Given the description of an element on the screen output the (x, y) to click on. 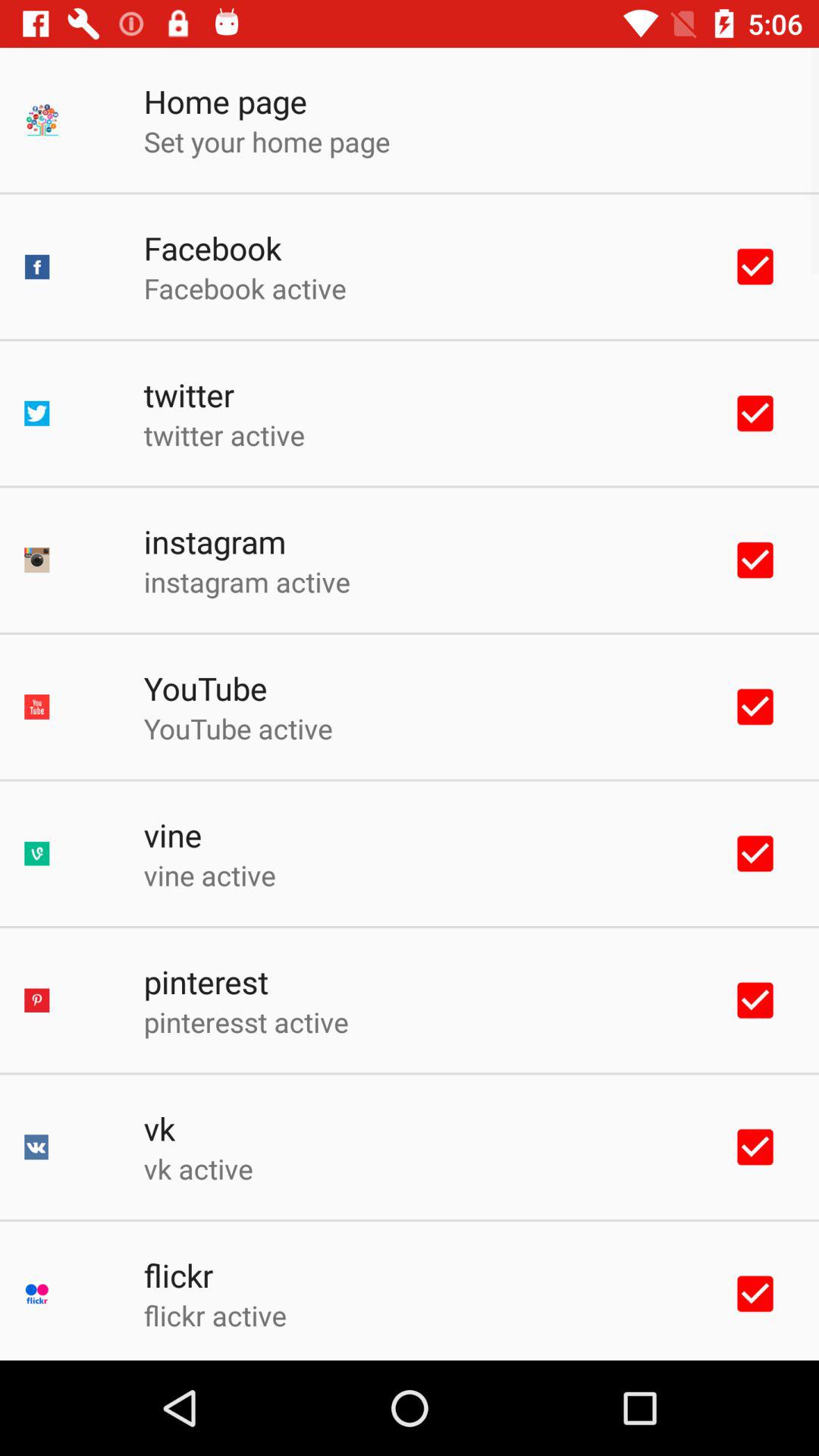
turn off app below the instagram (246, 581)
